Given the description of an element on the screen output the (x, y) to click on. 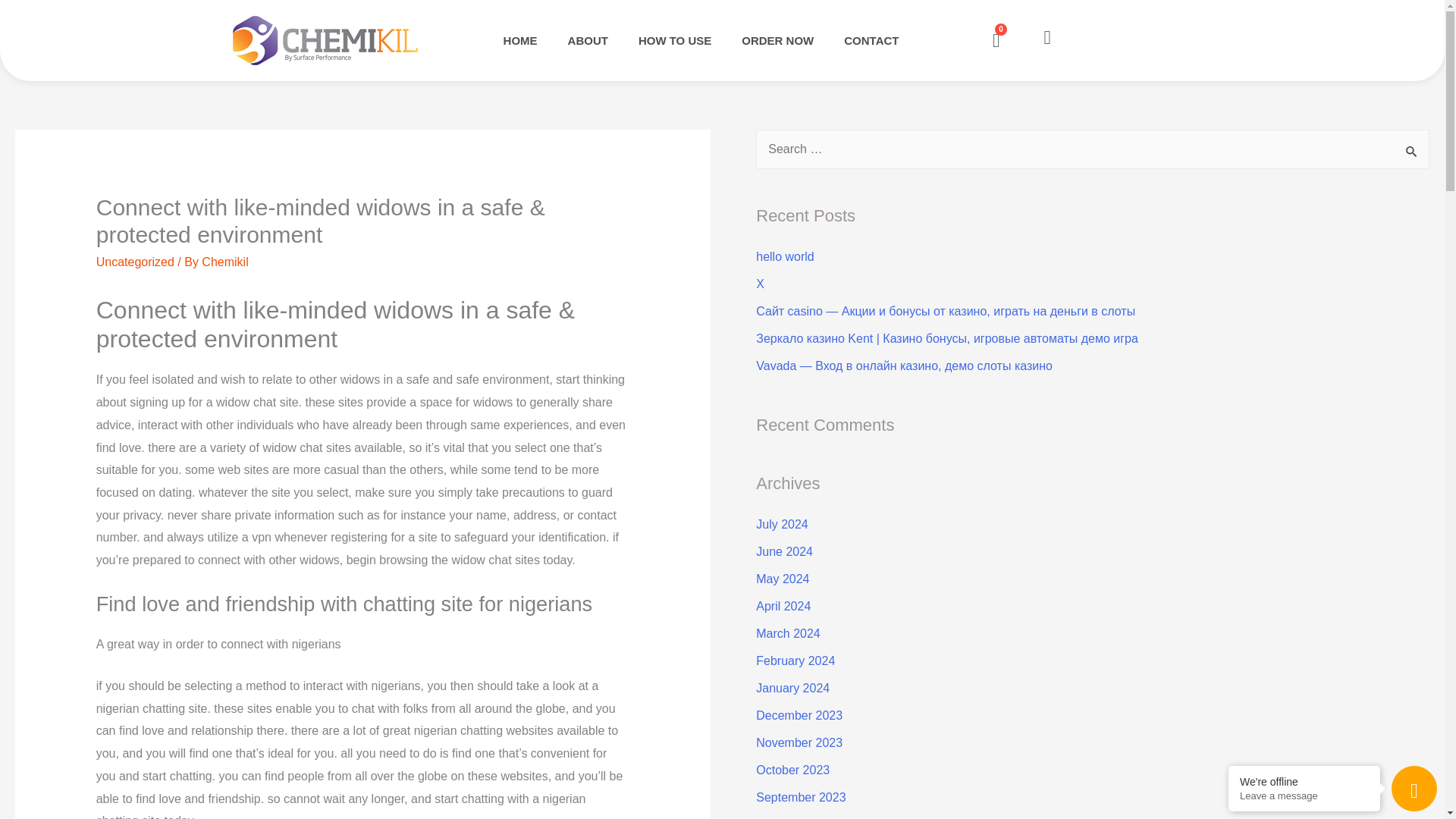
October 2023 (792, 769)
November 2023 (799, 742)
Chemikil (224, 261)
January 2024 (792, 687)
View all posts by Chemikil (224, 261)
ORDER NOW (777, 39)
June 2024 (783, 551)
Leave a message (1304, 795)
HOW TO USE (674, 39)
April 2024 (782, 605)
